Given the description of an element on the screen output the (x, y) to click on. 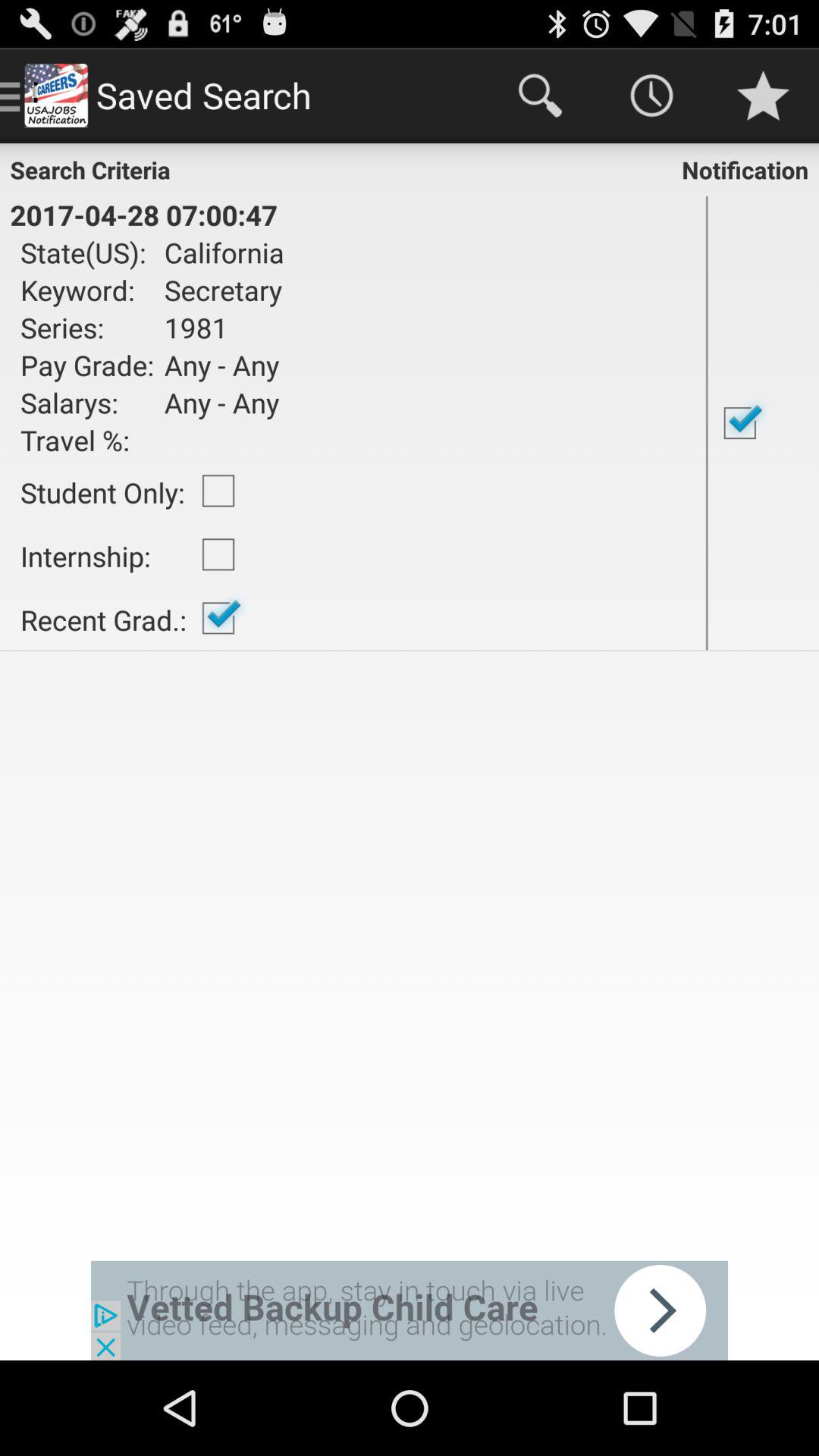
choose icon to the right of the internship: (218, 618)
